Given the description of an element on the screen output the (x, y) to click on. 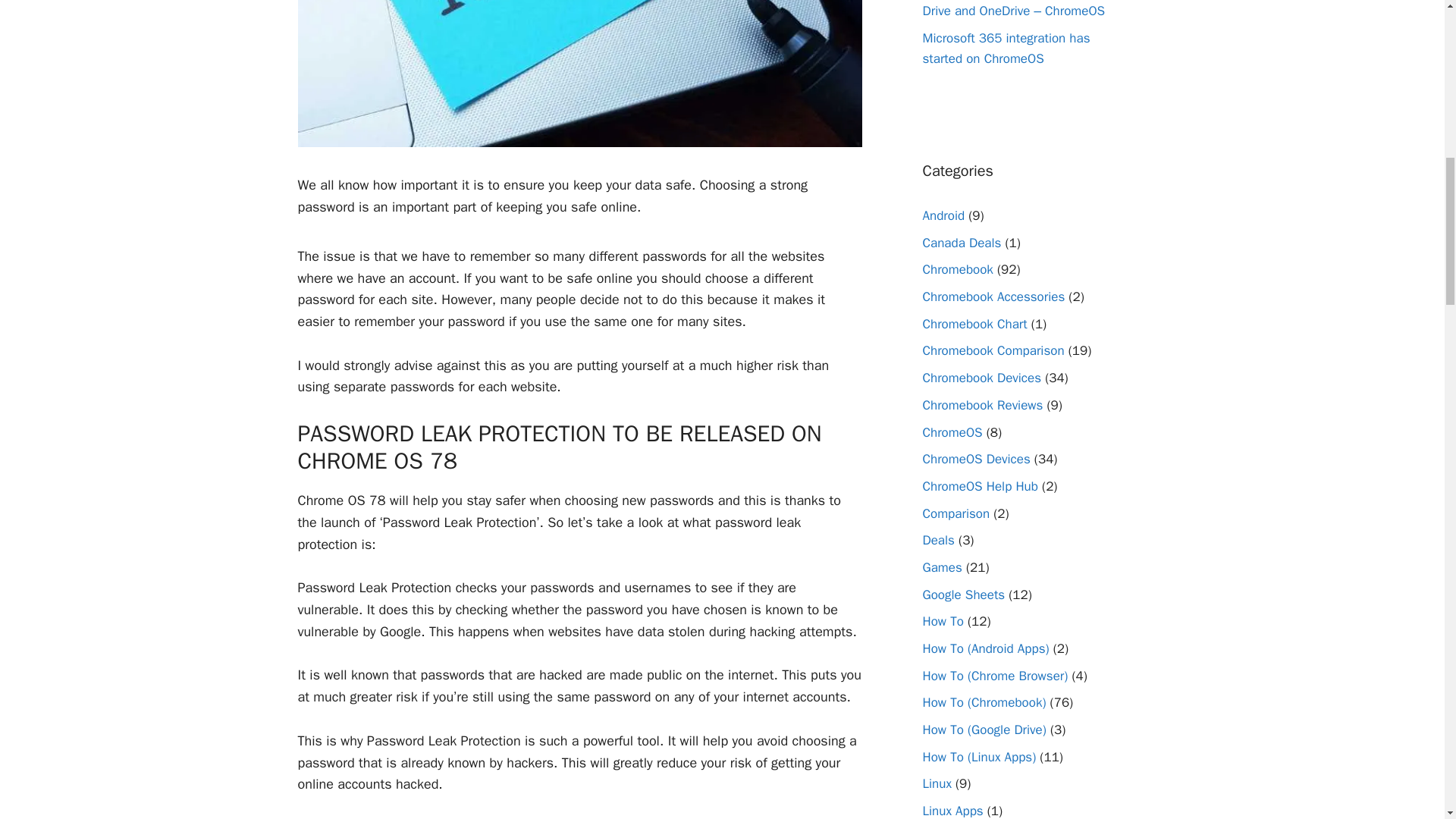
How To (941, 621)
Comparison (955, 513)
ChromeOS (951, 432)
Games (940, 567)
Canada Deals (961, 242)
Android (942, 215)
Microsoft 365 integration has started on ChromeOS (1005, 48)
Chromebook Devices (981, 377)
Chromebook Reviews (981, 405)
ChromeOS Devices (975, 458)
Chromebook Chart (973, 324)
ChromeOS Help Hub (978, 486)
Google Sheets (962, 594)
Chromebook Comparison (992, 350)
Deals (937, 539)
